Given the description of an element on the screen output the (x, y) to click on. 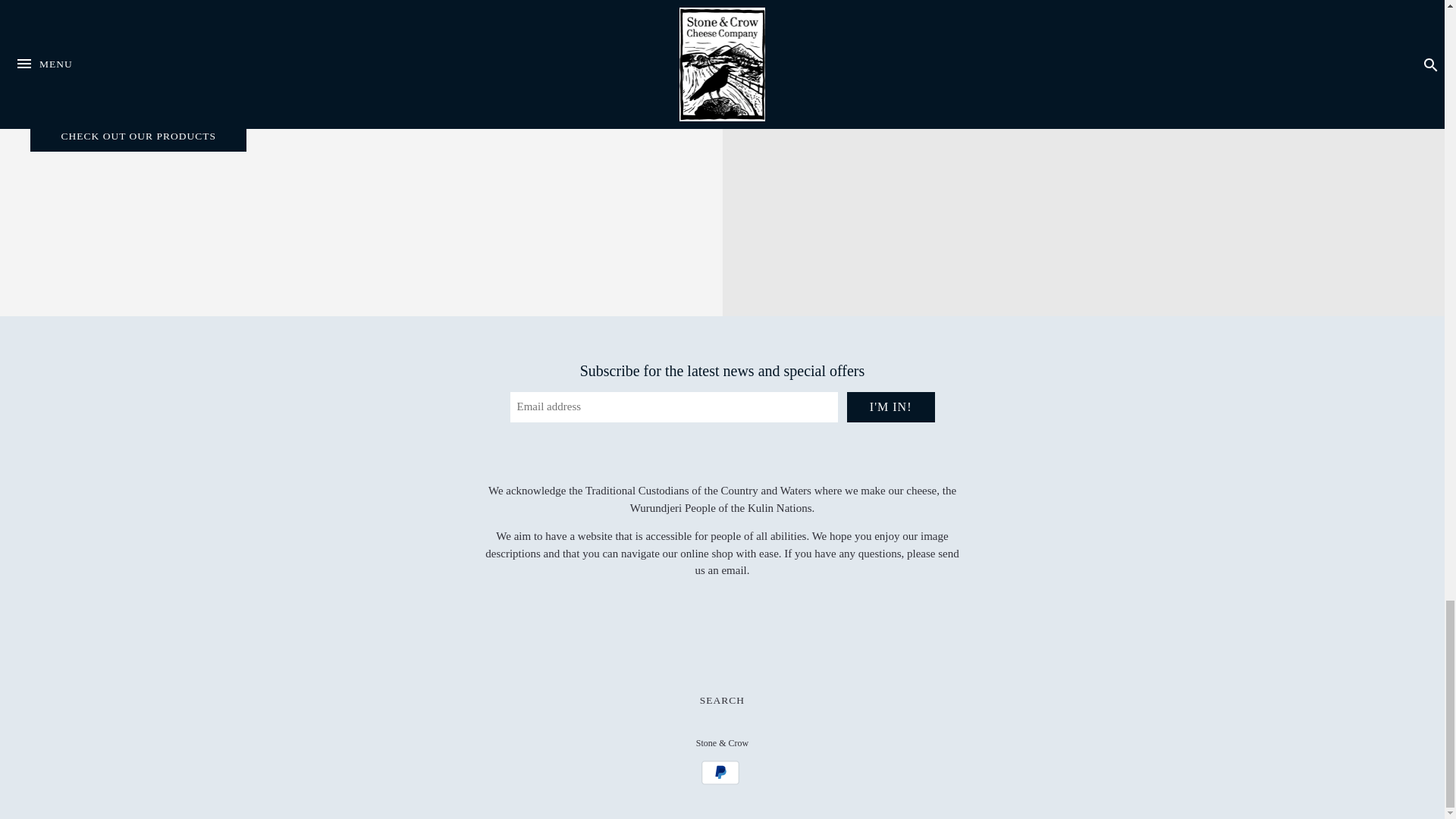
SEARCH (721, 700)
 Search (721, 700)
I'M IN! (890, 407)
CHECK OUT OUR PRODUCTS (138, 136)
